Given the description of an element on the screen output the (x, y) to click on. 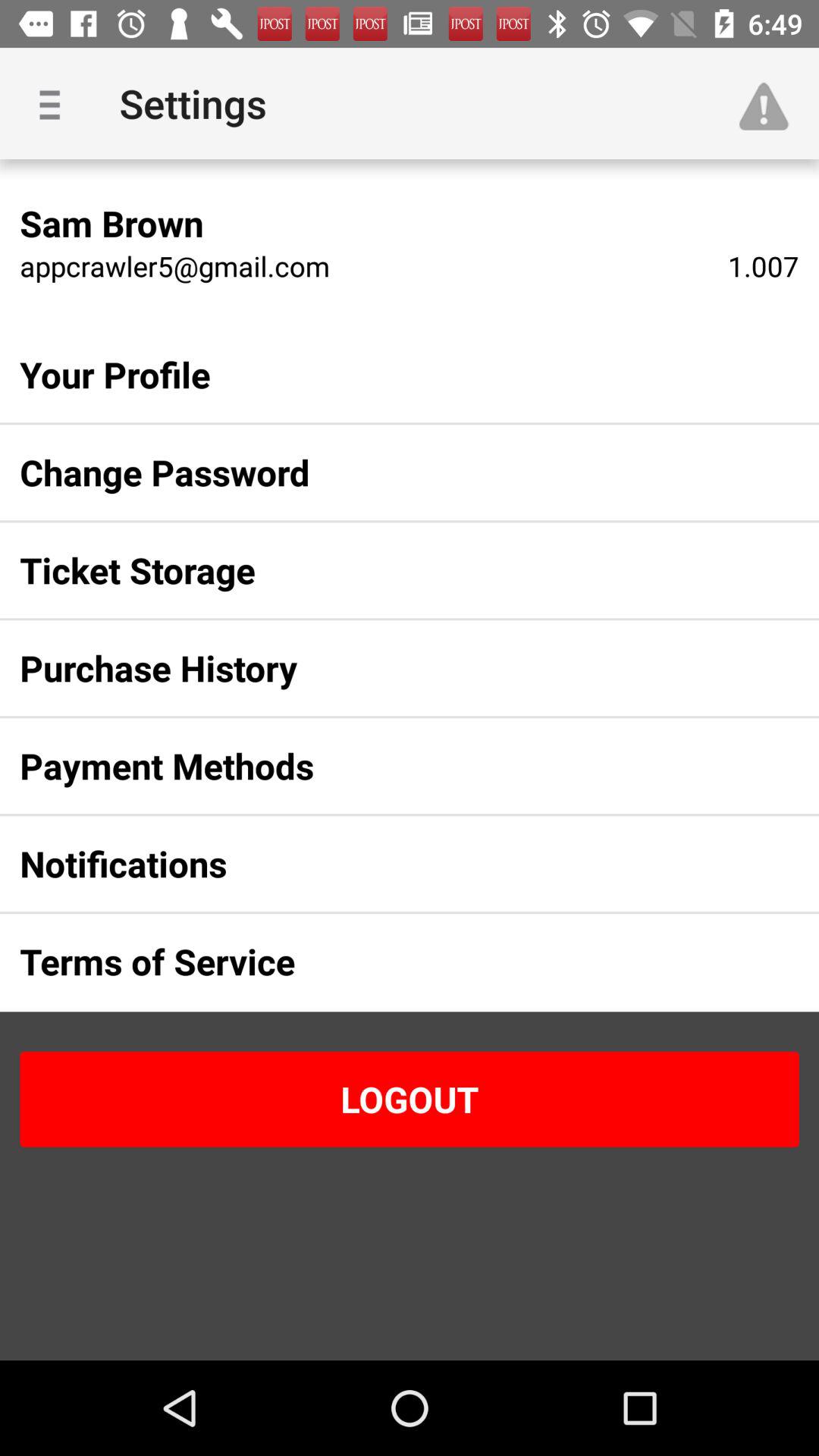
launch item next to settings item (55, 103)
